Given the description of an element on the screen output the (x, y) to click on. 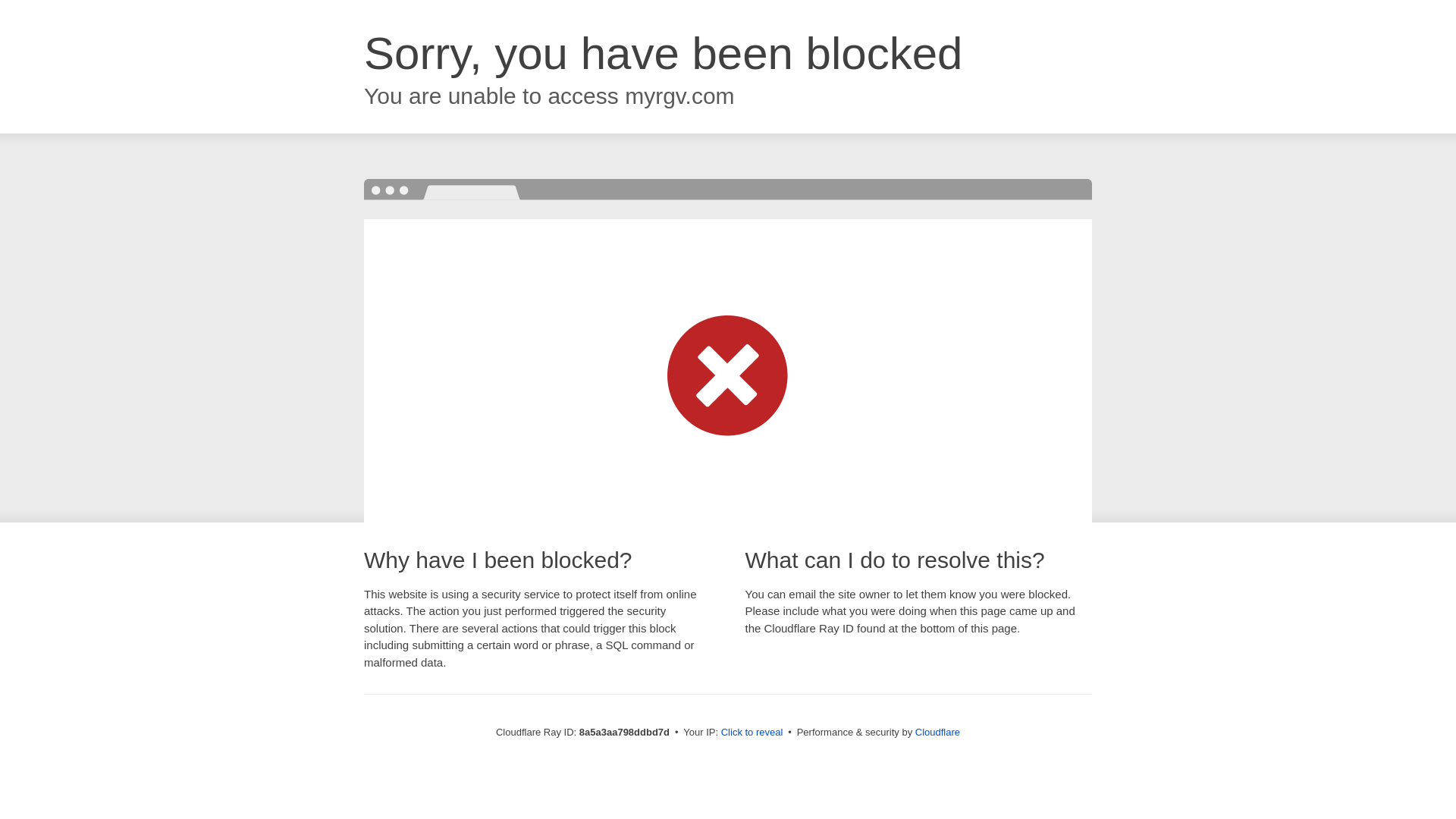
Click to reveal (751, 732)
Cloudflare (937, 731)
